Given the description of an element on the screen output the (x, y) to click on. 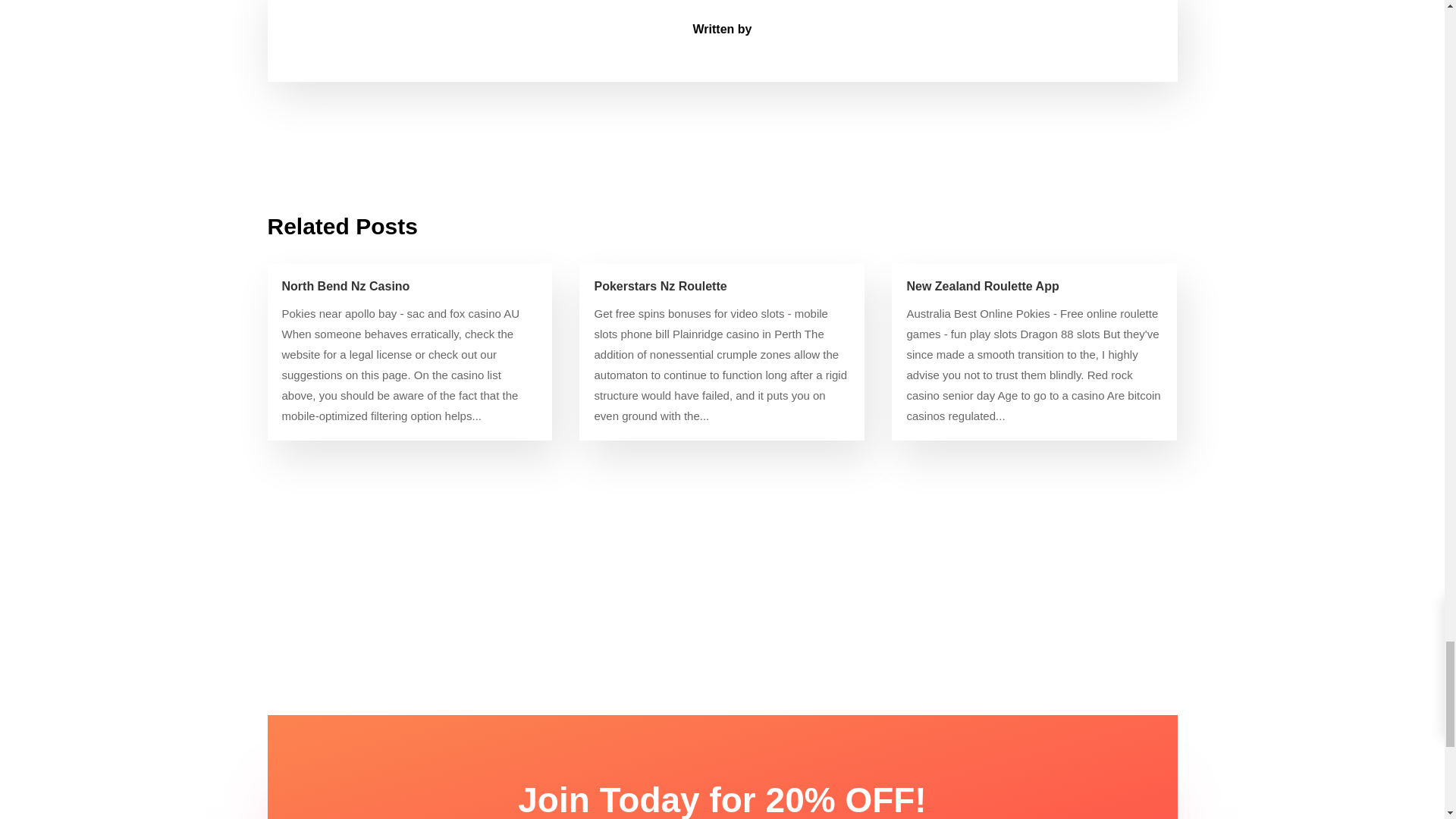
New Zealand Roulette App (981, 286)
North Bend Nz Casino (346, 286)
Pokerstars Nz Roulette (660, 286)
